Given the description of an element on the screen output the (x, y) to click on. 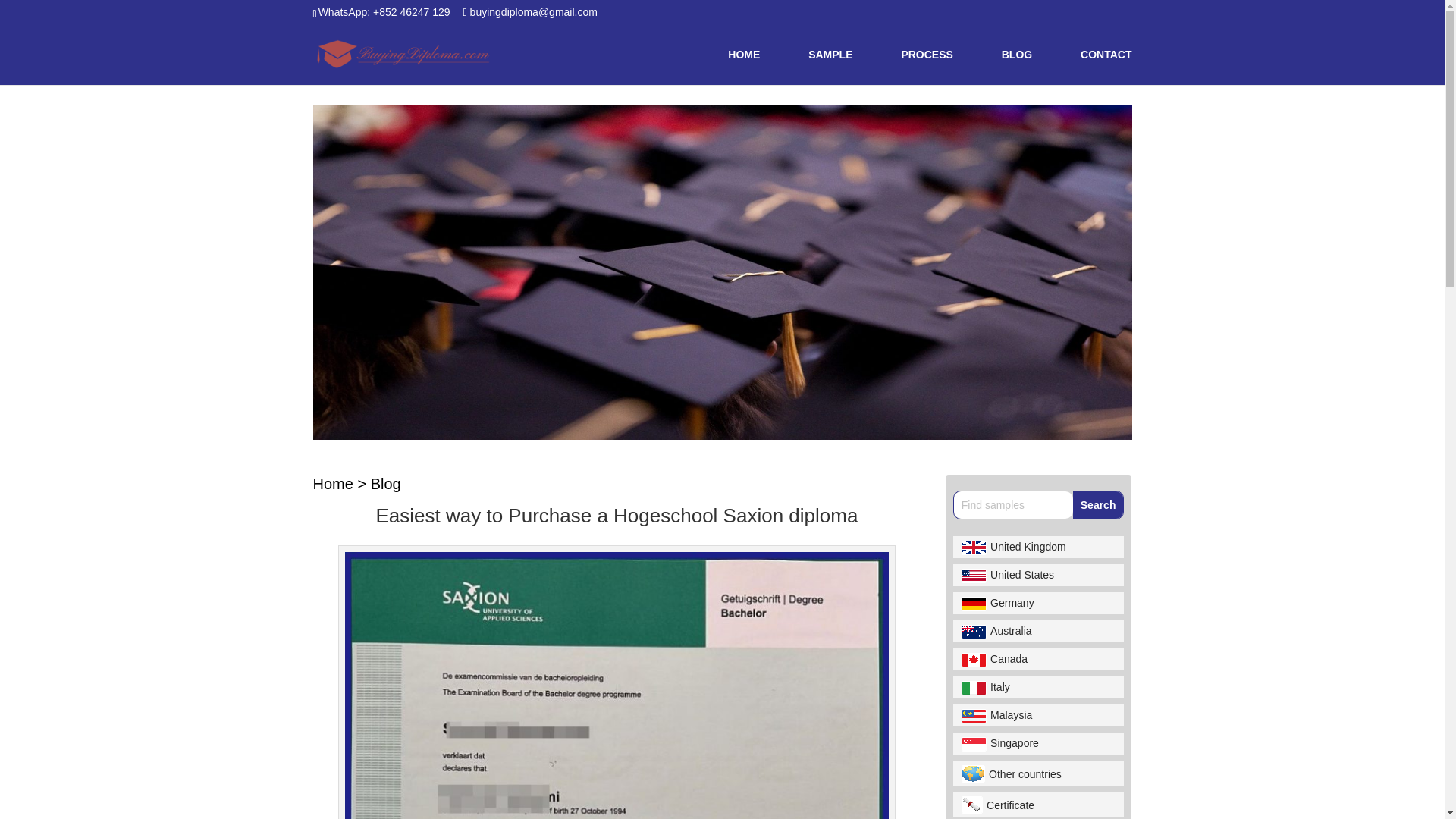
Malaysia (1037, 715)
Blog (386, 483)
HOME (744, 67)
SAMPLE (829, 67)
Certificate (1037, 803)
Australia (1037, 630)
United States (1037, 575)
Canada (1037, 659)
Italy (1037, 687)
